Given the description of an element on the screen output the (x, y) to click on. 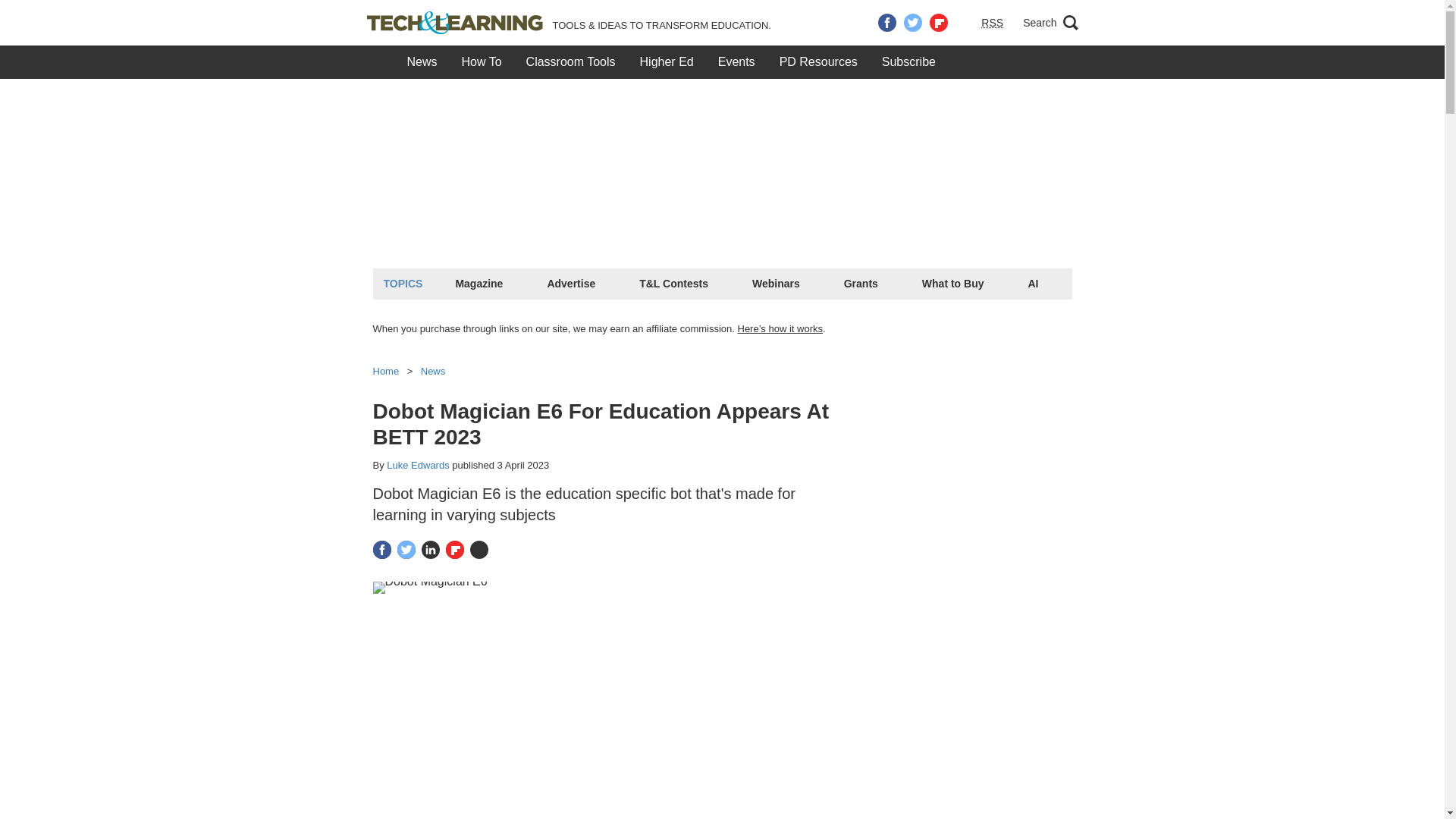
How To (481, 61)
Luke Edwards (417, 464)
AI (1032, 282)
Webinars (775, 282)
RSS (992, 22)
Magazine (478, 282)
What to Buy (953, 282)
Really Simple Syndication (992, 22)
Advertise (570, 282)
Events (736, 61)
News (421, 61)
Subscribe (908, 61)
PD Resources (818, 61)
Classroom Tools (570, 61)
Grants (860, 282)
